Given the description of an element on the screen output the (x, y) to click on. 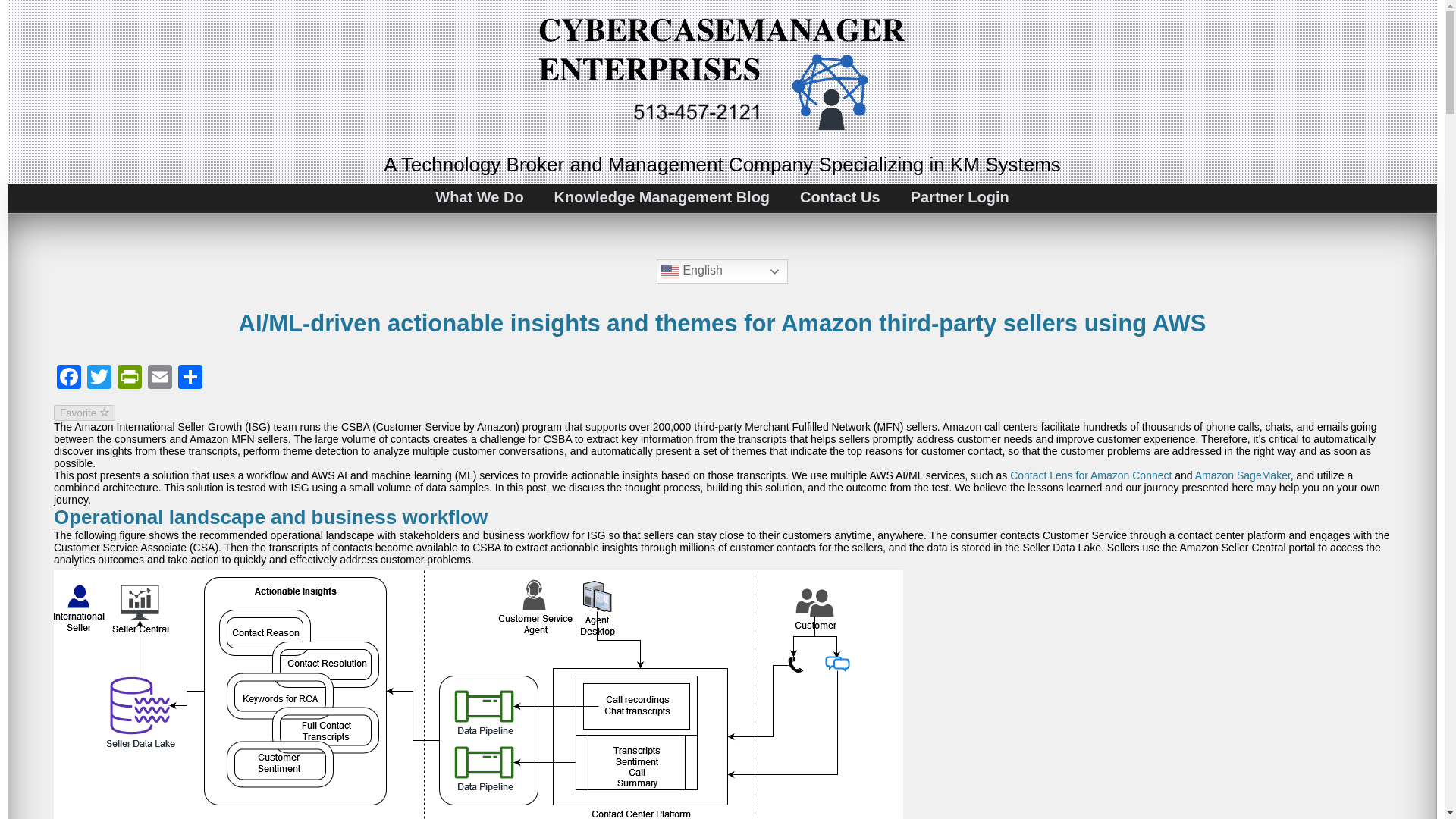
Email (159, 378)
Knowledge Management Blog (661, 197)
PrintFriendly (129, 378)
Contact Us (839, 197)
Facebook (68, 378)
Twitter (99, 378)
Contact Lens for Amazon Connect (1091, 475)
Amazon SageMaker (1242, 475)
Facebook (68, 378)
Email (159, 378)
Share (189, 378)
Partner Login (960, 197)
Twitter (99, 378)
PrintFriendly (129, 378)
What We Do (479, 197)
